Given the description of an element on the screen output the (x, y) to click on. 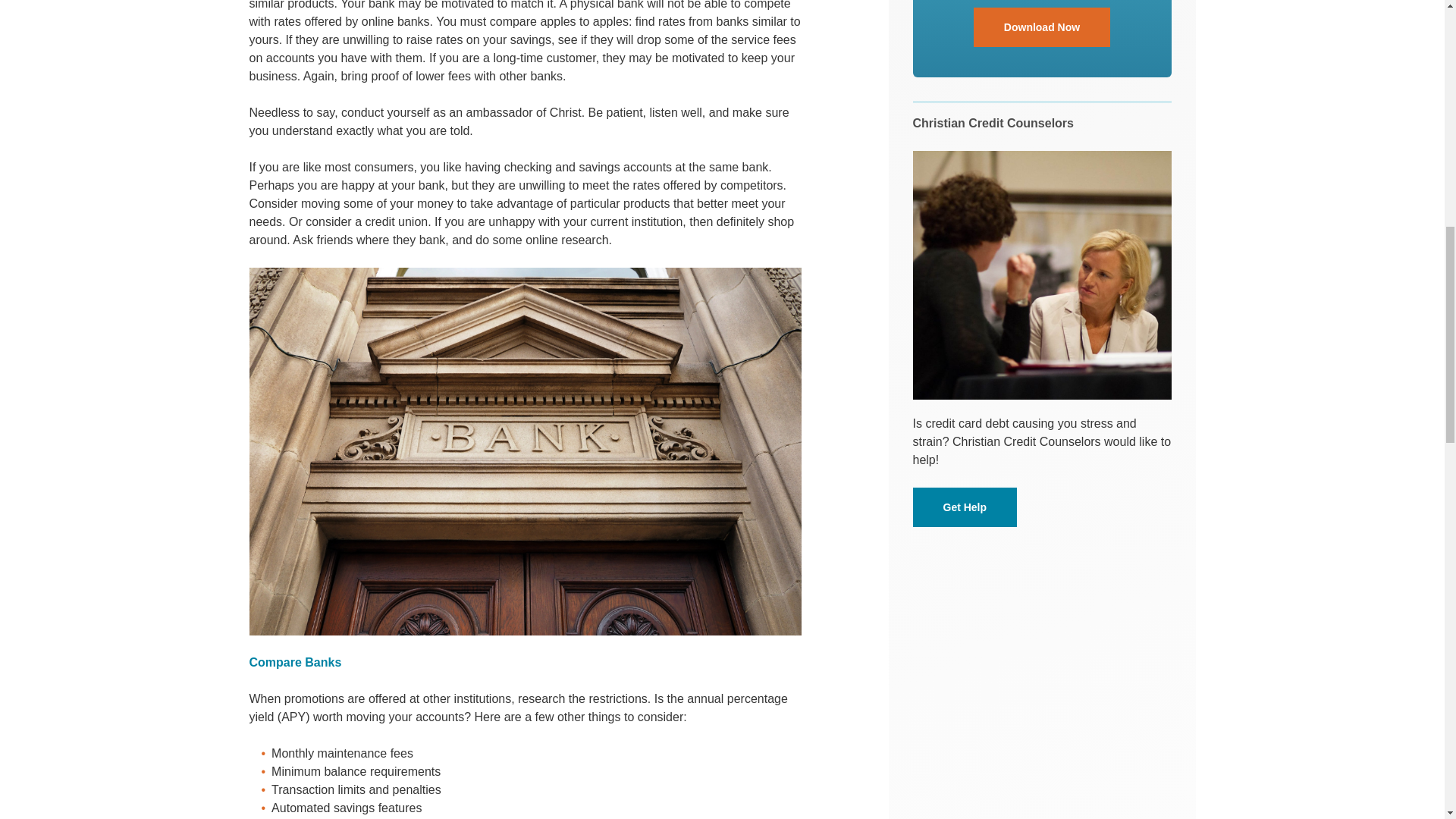
Neile At Crownbusinesssummitt 22 1 E1672242745290 1024x987 (1042, 275)
